Given the description of an element on the screen output the (x, y) to click on. 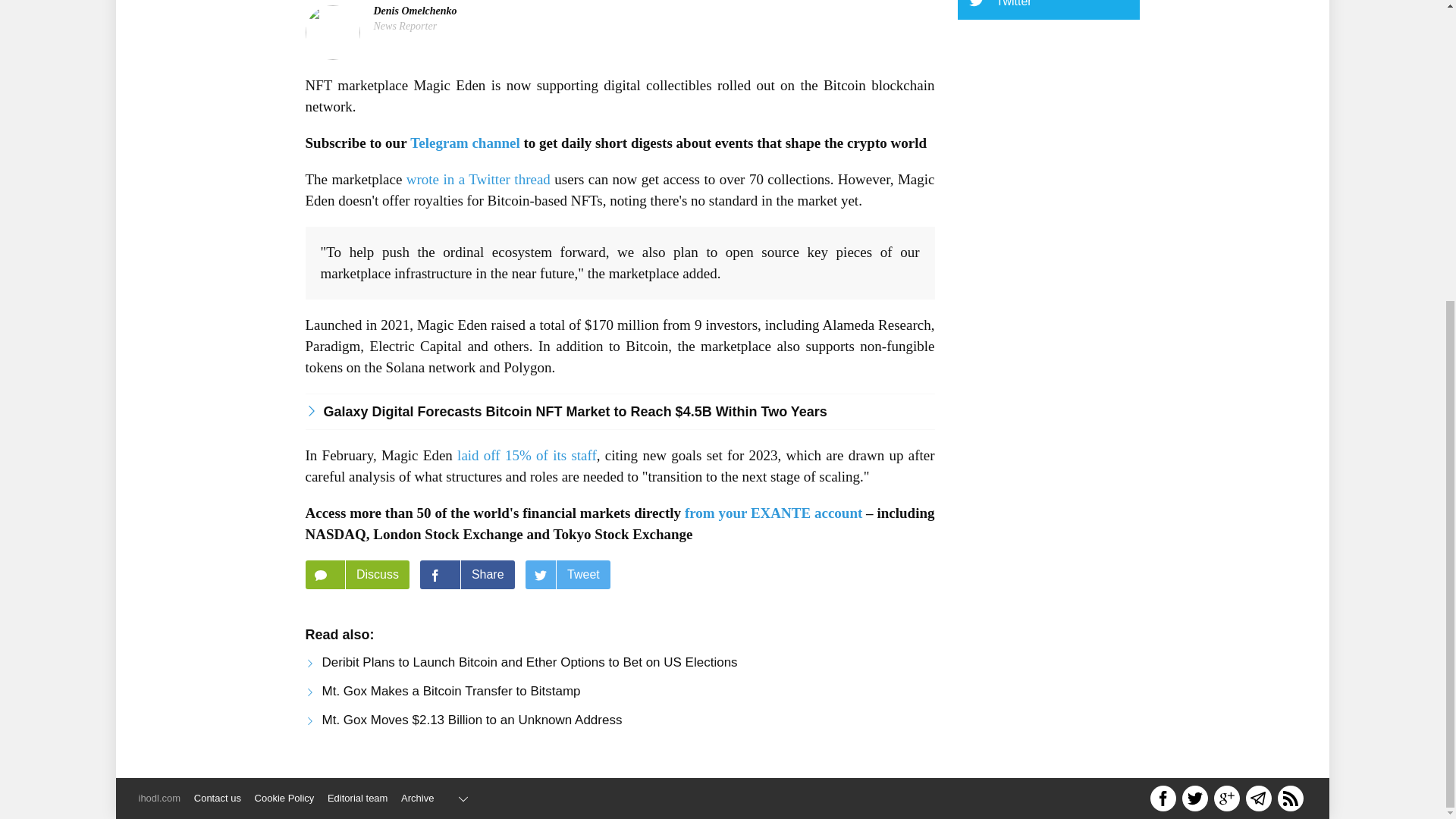
News Reporter (404, 25)
Telegram channel (464, 142)
wrote in a Twitter thread (478, 179)
Denis Omelchenko (414, 10)
